Given the description of an element on the screen output the (x, y) to click on. 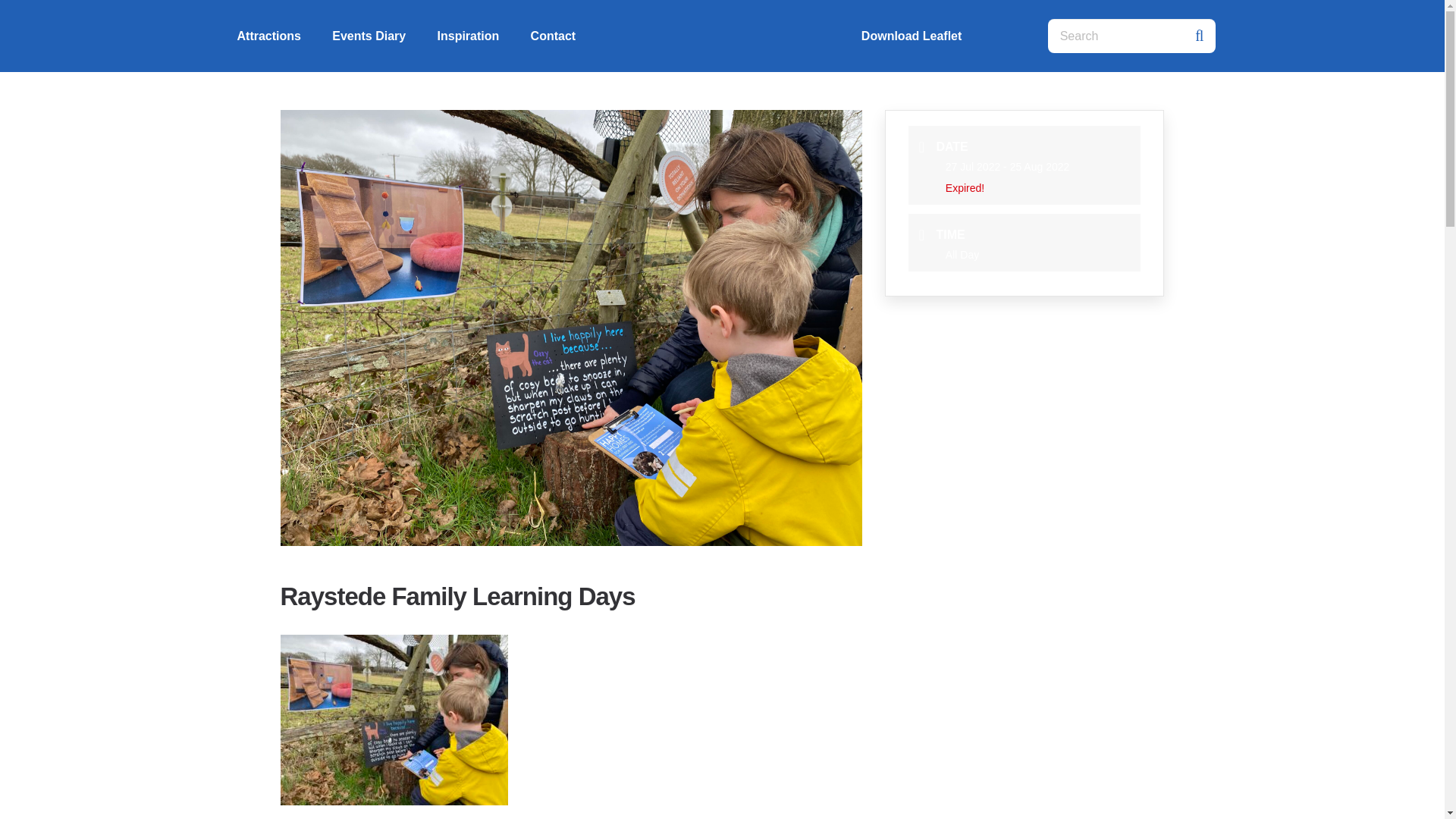
Contact (552, 35)
Events Diary (368, 35)
Inspiration (467, 35)
Download Leaflet (910, 34)
Attractions (267, 35)
